Given the description of an element on the screen output the (x, y) to click on. 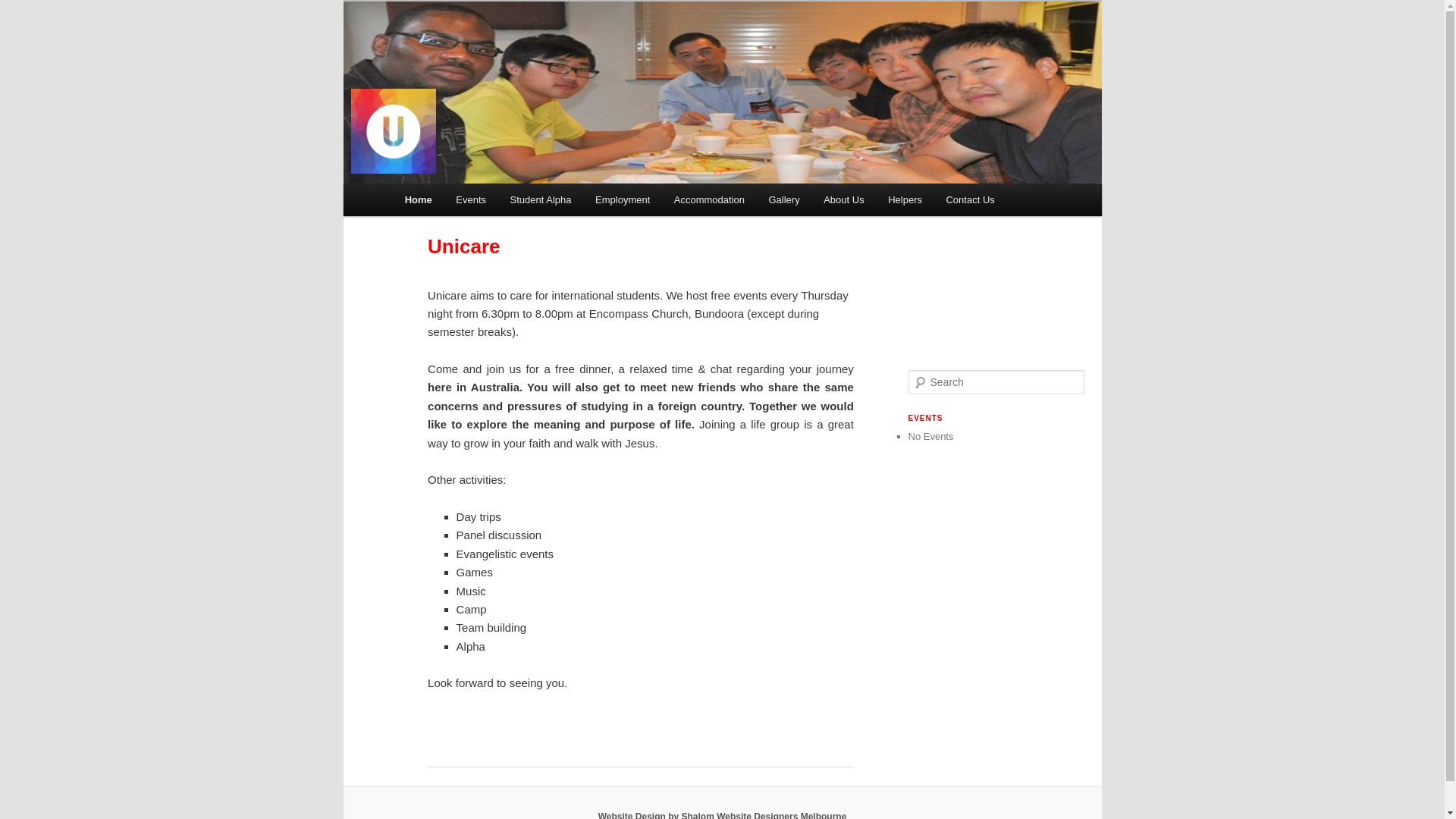
Accommodation Element type: text (709, 199)
Employment Element type: text (622, 199)
Gallery Element type: text (784, 199)
Skip to primary content Element type: text (472, 202)
Student Alpha Element type: text (540, 199)
Events Element type: text (471, 199)
6 Element type: hover (721, 92)
Home Element type: text (418, 199)
Search Element type: text (24, 8)
Helpers Element type: text (904, 199)
Search Element type: text (20, 10)
About Us Element type: text (843, 199)
Contact Us Element type: text (970, 199)
Skip to secondary content Element type: text (479, 202)
